Given the description of an element on the screen output the (x, y) to click on. 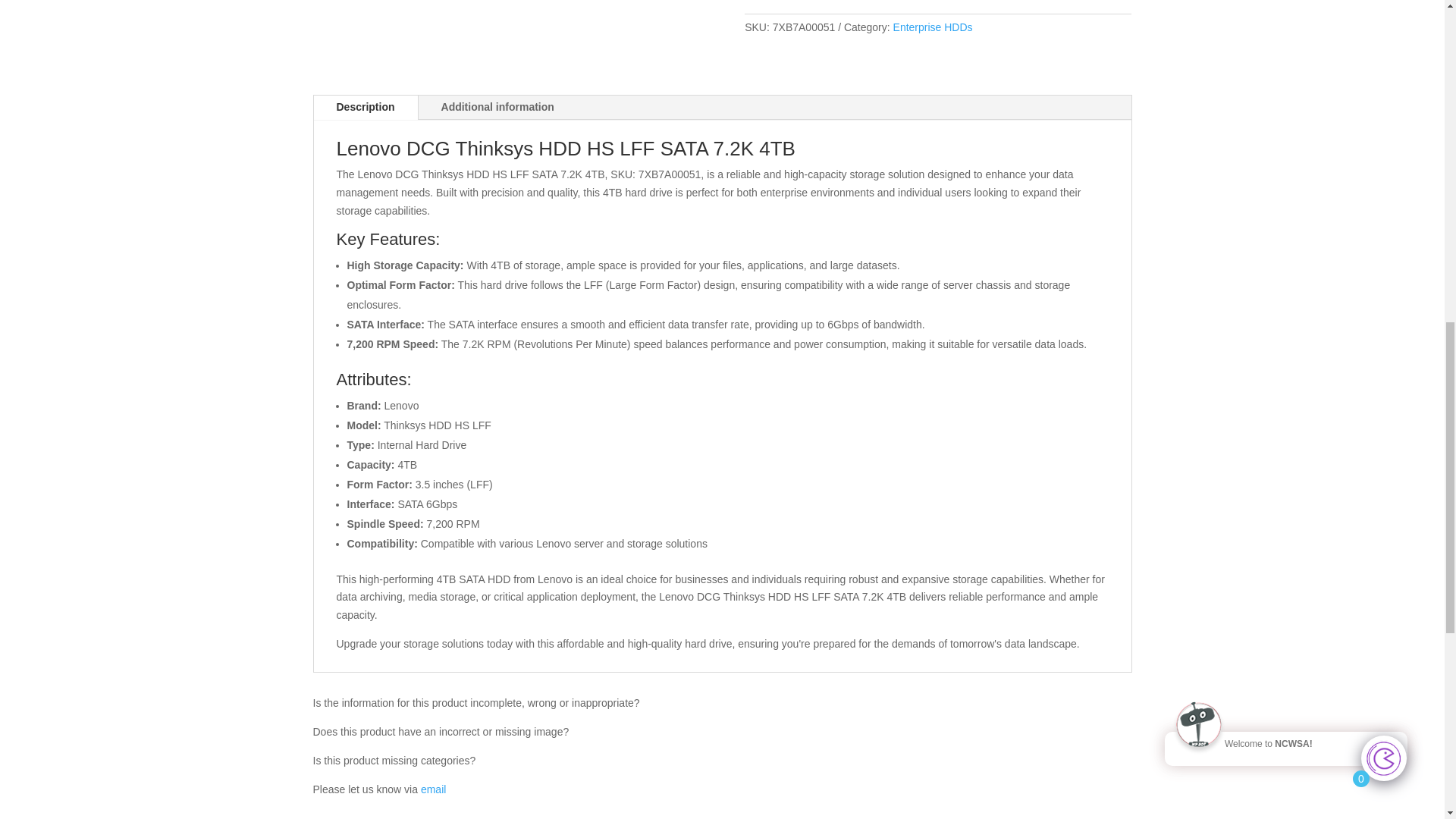
Wrong product details (432, 788)
